Given the description of an element on the screen output the (x, y) to click on. 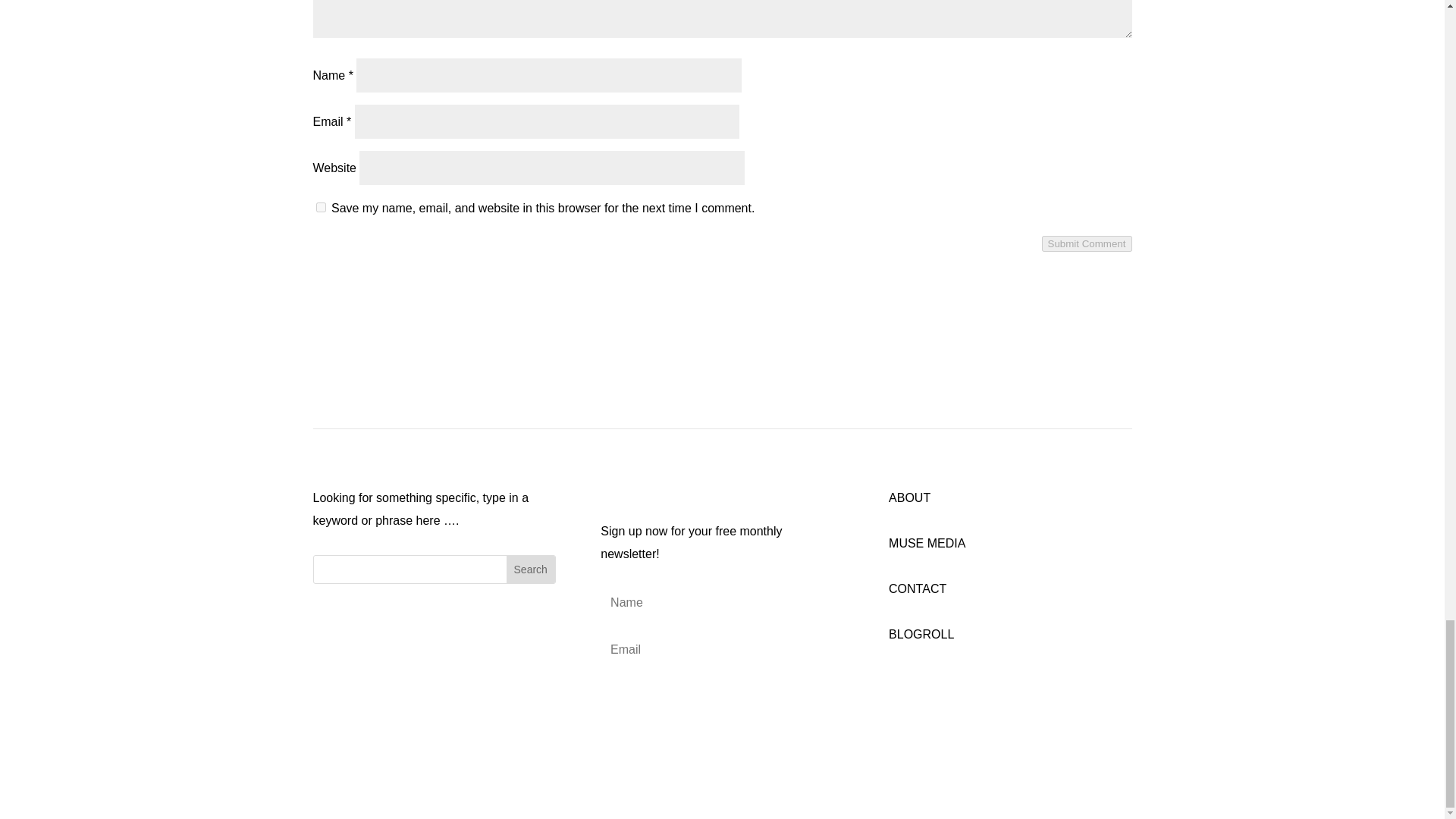
Search (530, 569)
Search (530, 569)
yes (319, 207)
